Given the description of an element on the screen output the (x, y) to click on. 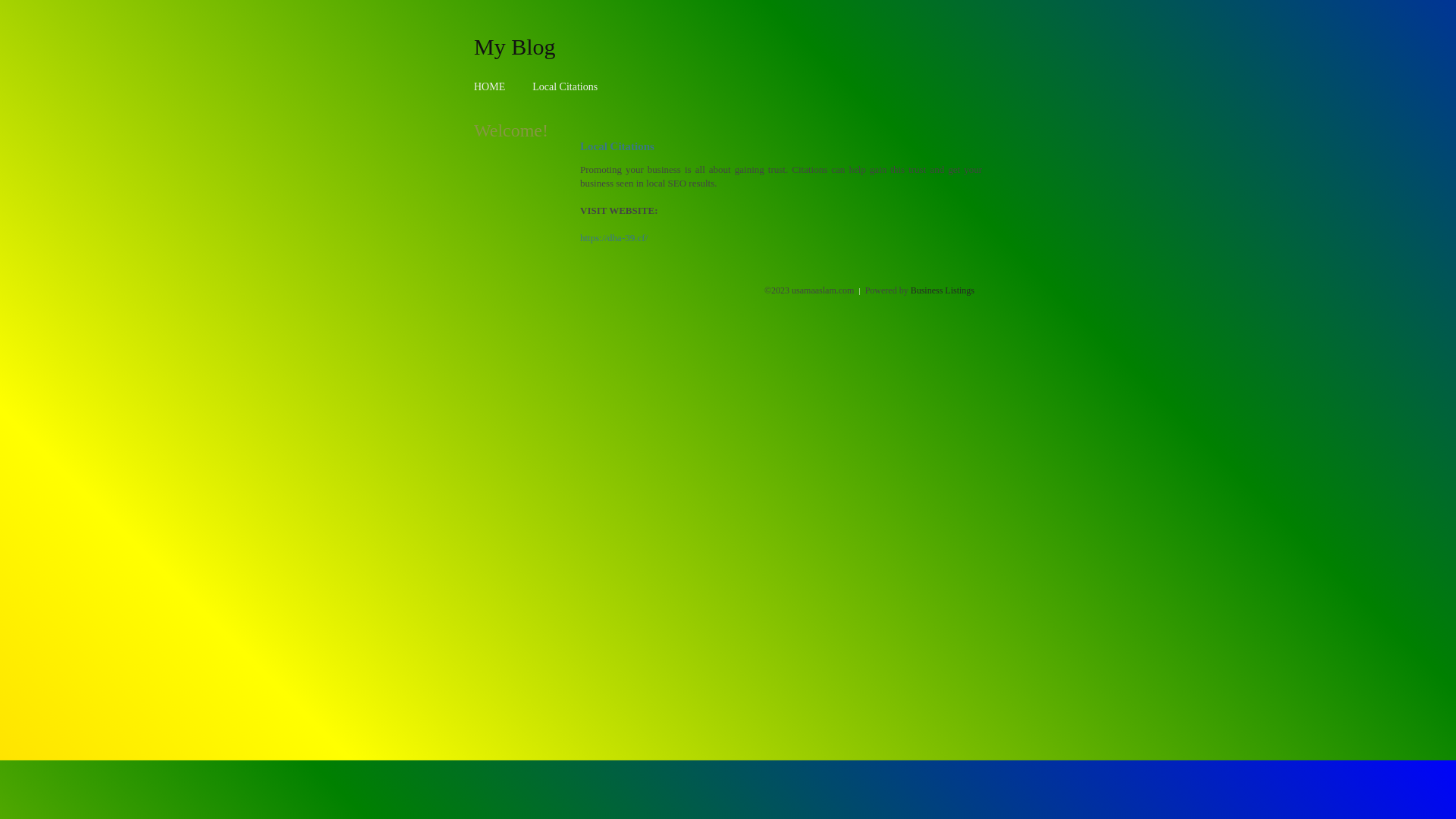
Business Listings Element type: text (942, 290)
HOME Element type: text (489, 86)
https://dha-39.cf/ Element type: text (613, 237)
Local Citations Element type: text (564, 86)
My Blog Element type: text (514, 46)
